Given the description of an element on the screen output the (x, y) to click on. 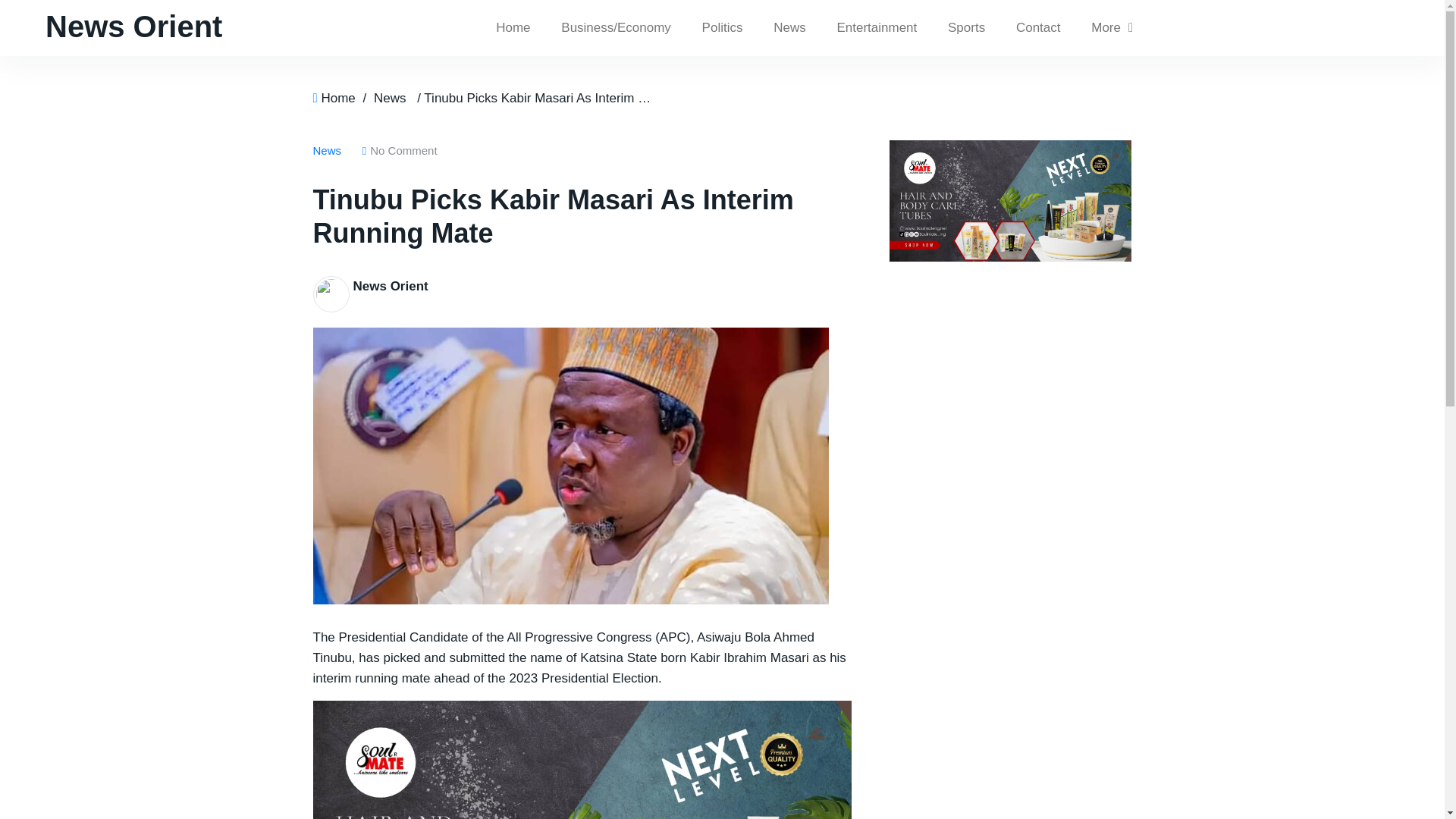
Sports (966, 28)
Entertainment (876, 28)
Politics (722, 28)
More (1112, 28)
Home (512, 28)
Contact (1038, 28)
News (390, 97)
News Orient (133, 25)
News Orient (390, 286)
News (789, 28)
Home (337, 97)
News (330, 150)
